Given the description of an element on the screen output the (x, y) to click on. 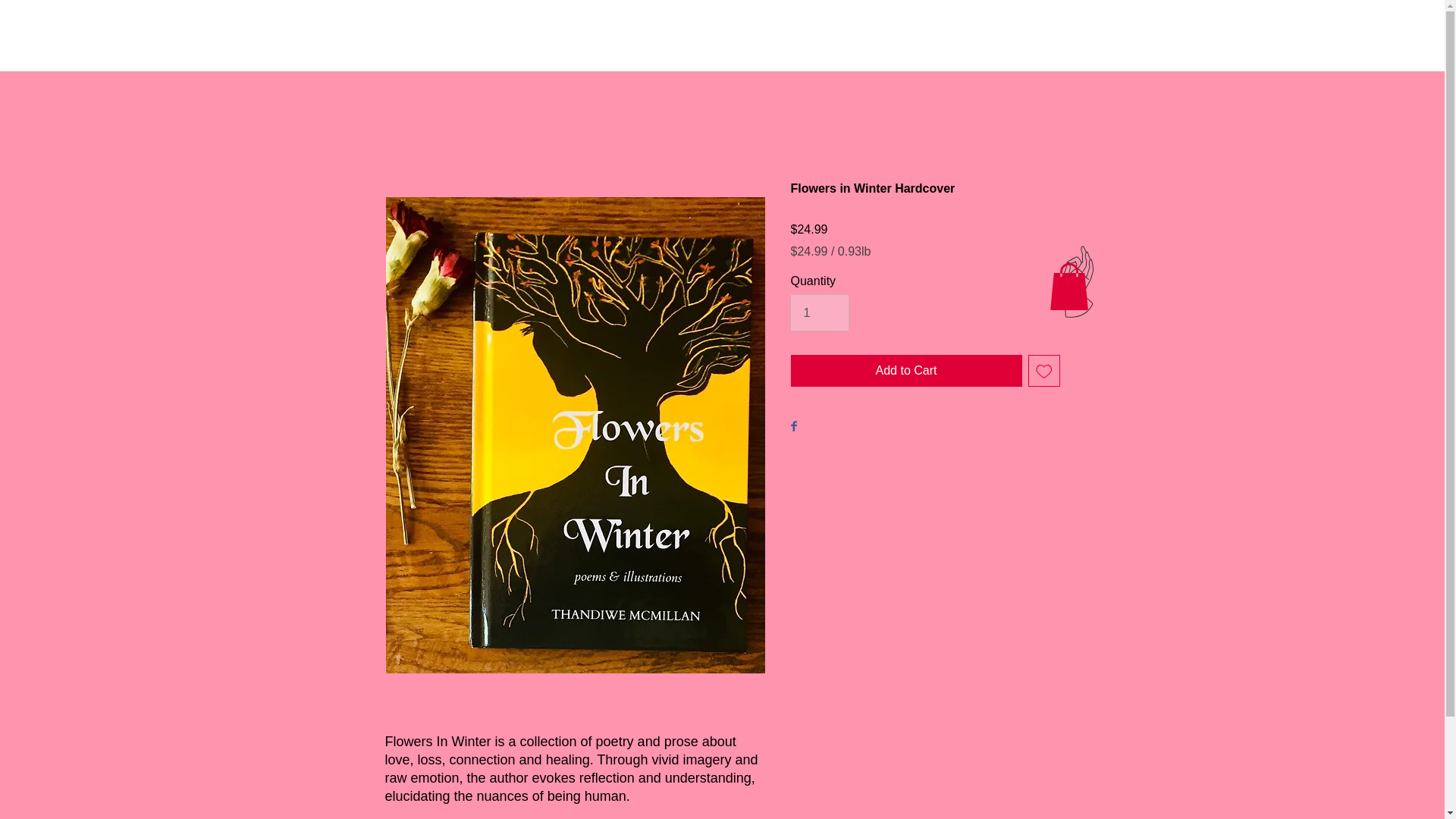
Add to Cart (906, 370)
1 (818, 312)
